Given the description of an element on the screen output the (x, y) to click on. 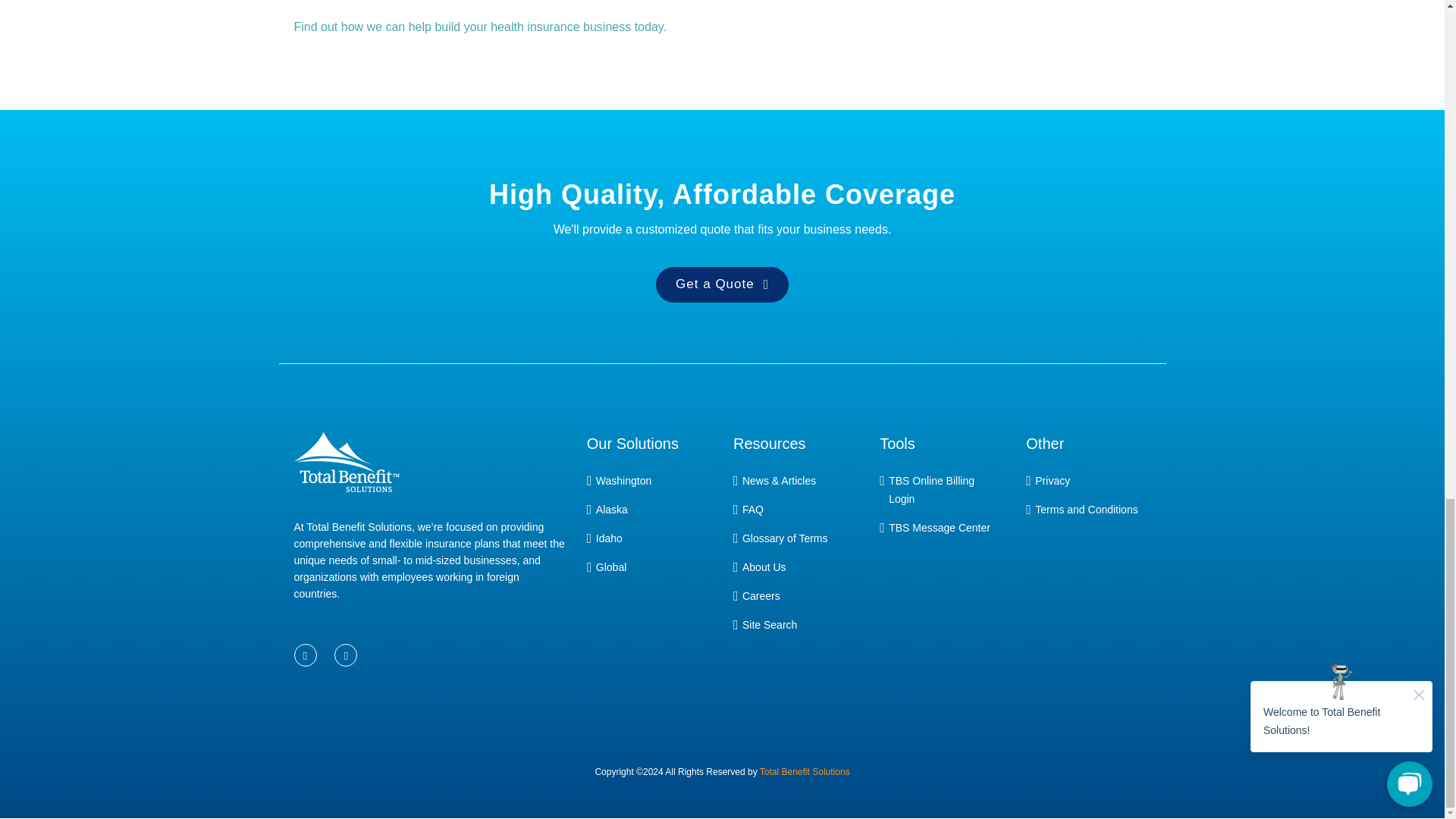
Contact us (480, 26)
tbs logo (346, 473)
Get a Quote (722, 284)
